Given the description of an element on the screen output the (x, y) to click on. 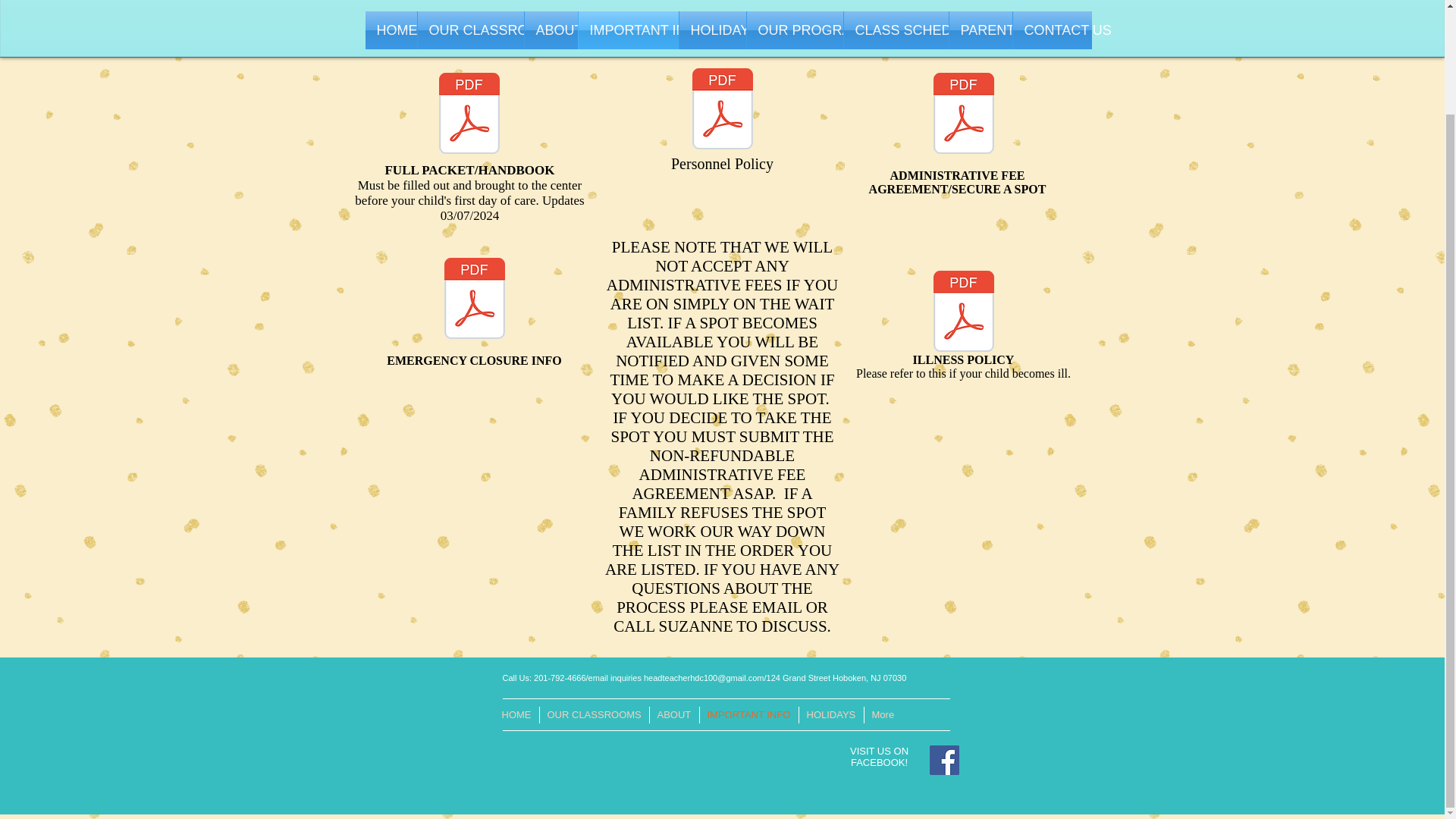
ABOUT (551, 30)
OUR CLASSROOMS (469, 30)
ABOUT (673, 714)
IMPORTANT INFO (628, 30)
OUR CLASSROOMS (592, 714)
HOME (390, 30)
HOME (516, 714)
IMPORTANT INFO (747, 714)
CONTACT US (1052, 30)
OUR PROGRAMS (794, 30)
CLASS SCHEDULES (895, 30)
PARENTS (980, 30)
HOLIDAYS (830, 714)
HOLIDAYS (712, 30)
